Given the description of an element on the screen output the (x, y) to click on. 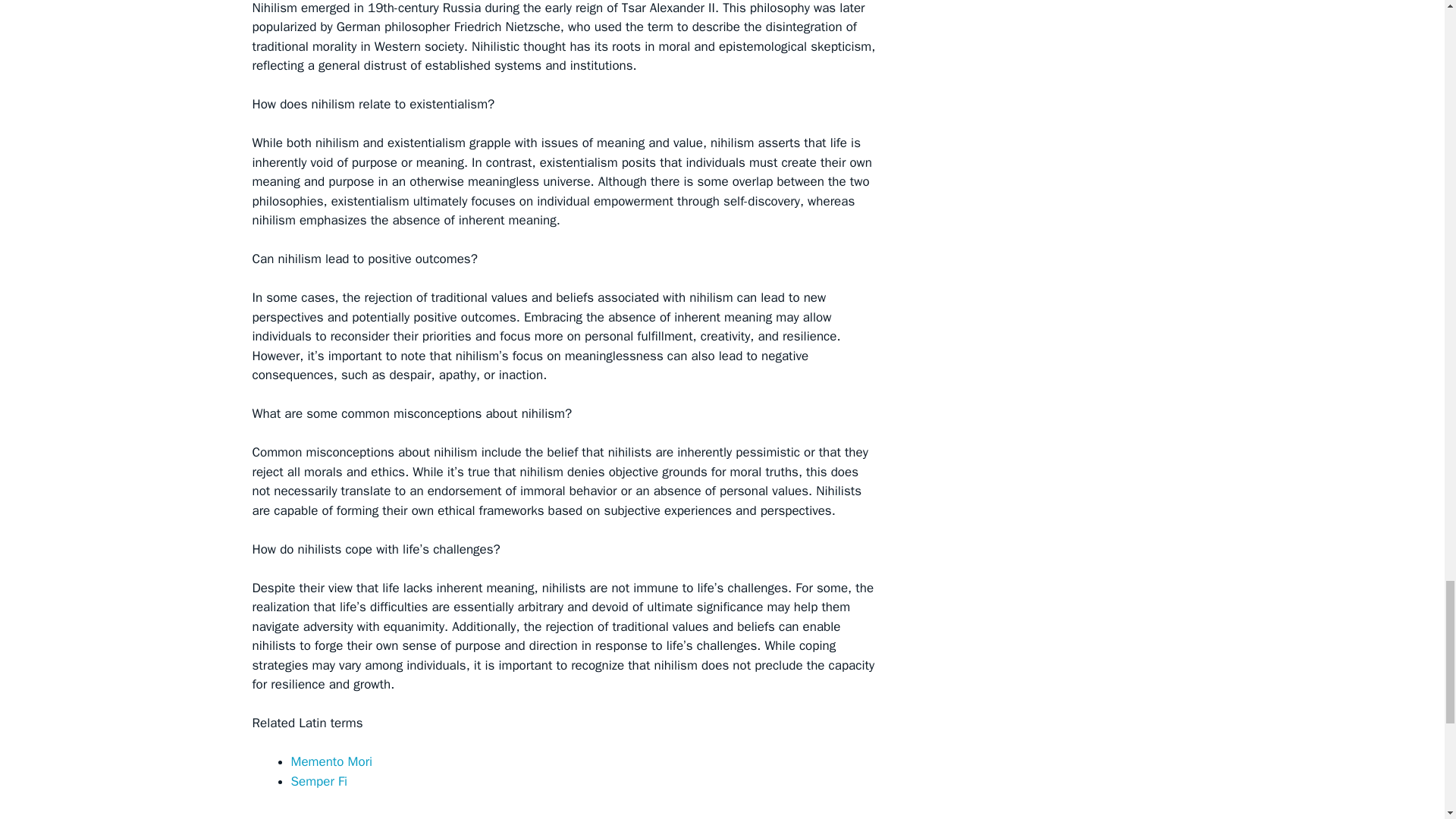
Memento Mori (331, 761)
Semper Fi (319, 781)
